Given the description of an element on the screen output the (x, y) to click on. 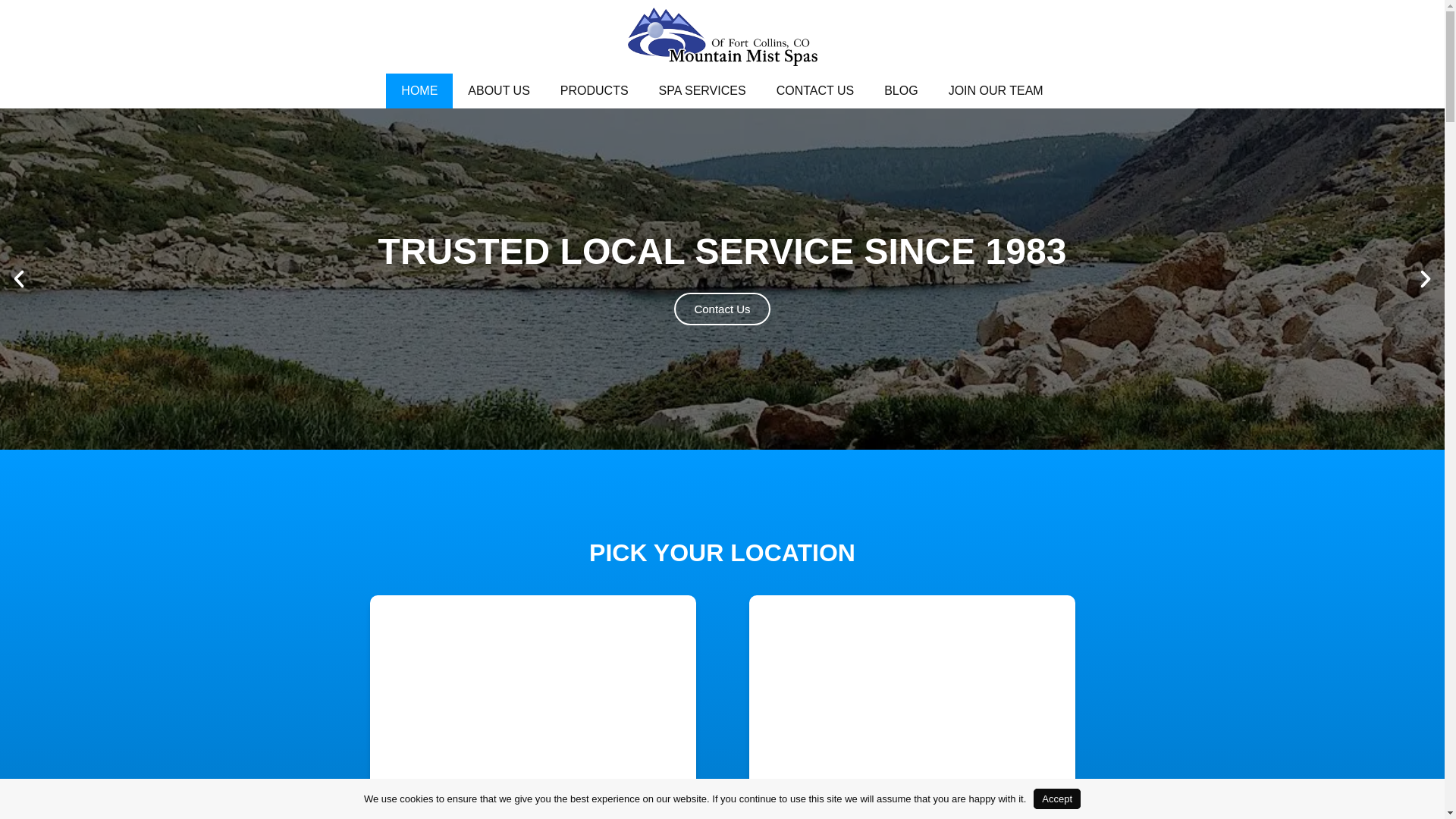
HOME (418, 90)
ABOUT US (498, 90)
PRODUCTS (593, 90)
